Given the description of an element on the screen output the (x, y) to click on. 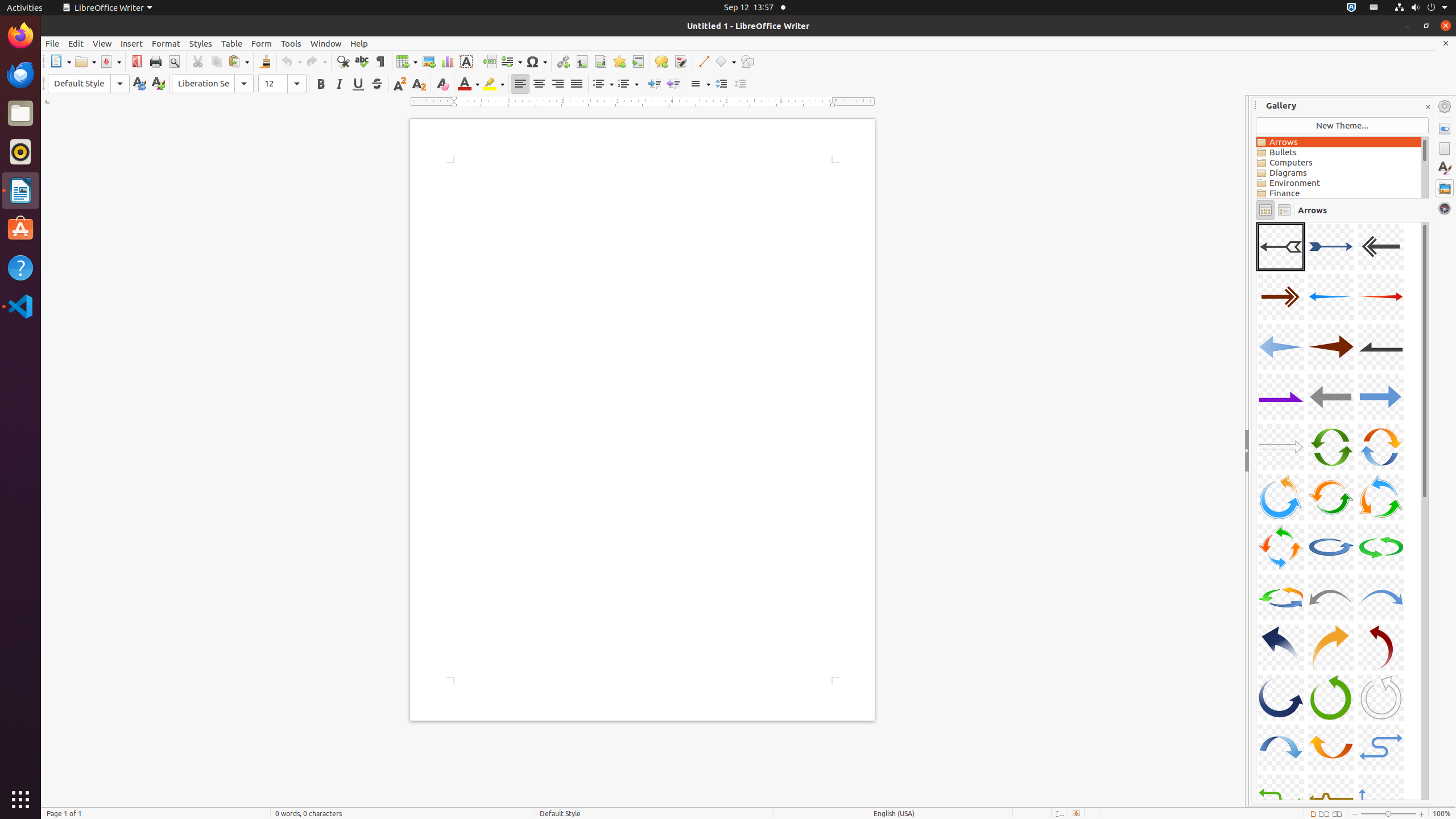
Superscript Element type: toggle-button (399, 83)
Icon View Element type: toggle-button (1264, 210)
A33-CurvedArrow-LightBlue-TwoDirections Element type: list-item (1380, 746)
Print Element type: push-button (155, 61)
Help Element type: push-button (20, 267)
